Given the description of an element on the screen output the (x, y) to click on. 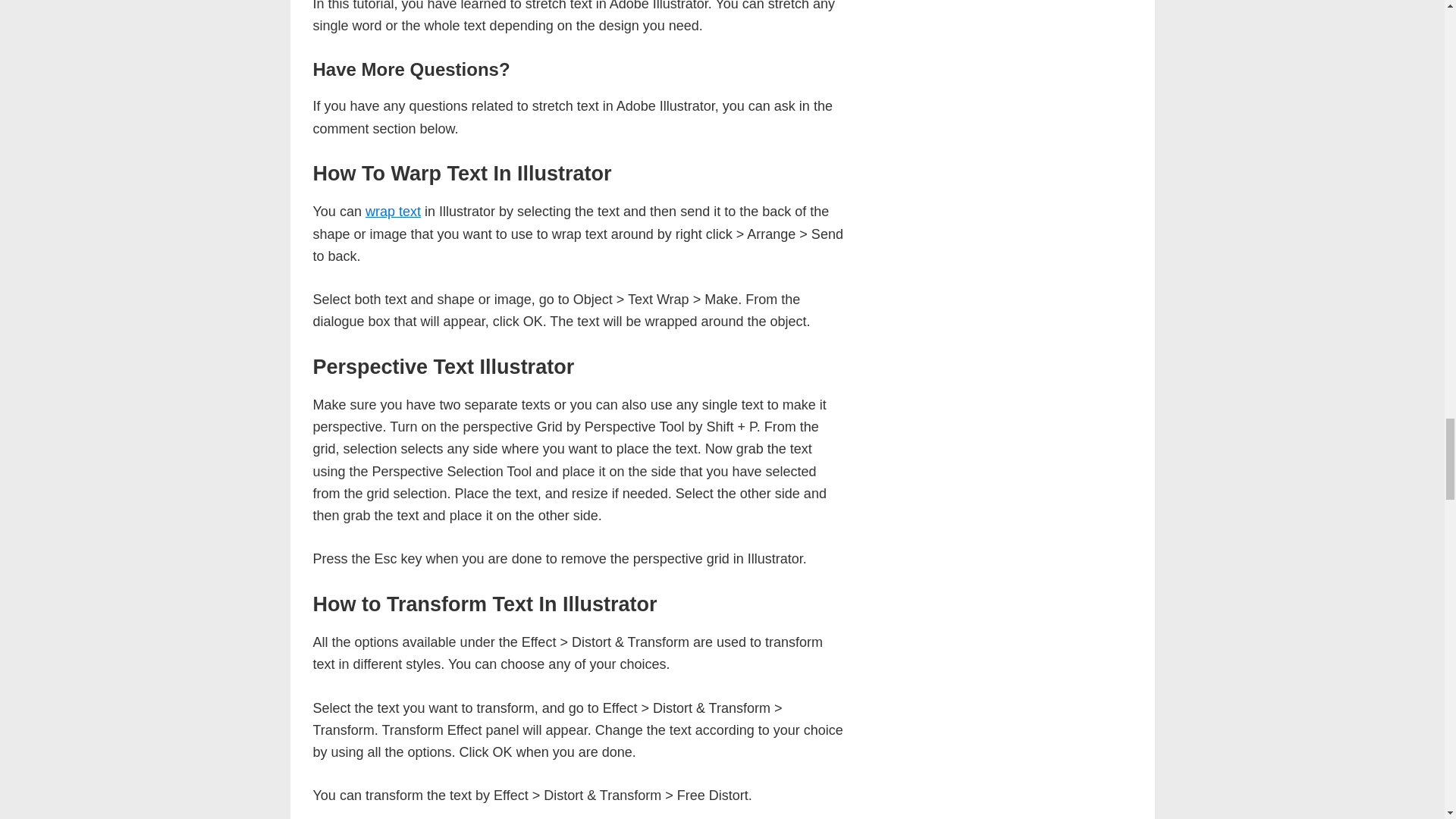
wrap text (392, 211)
